Given the description of an element on the screen output the (x, y) to click on. 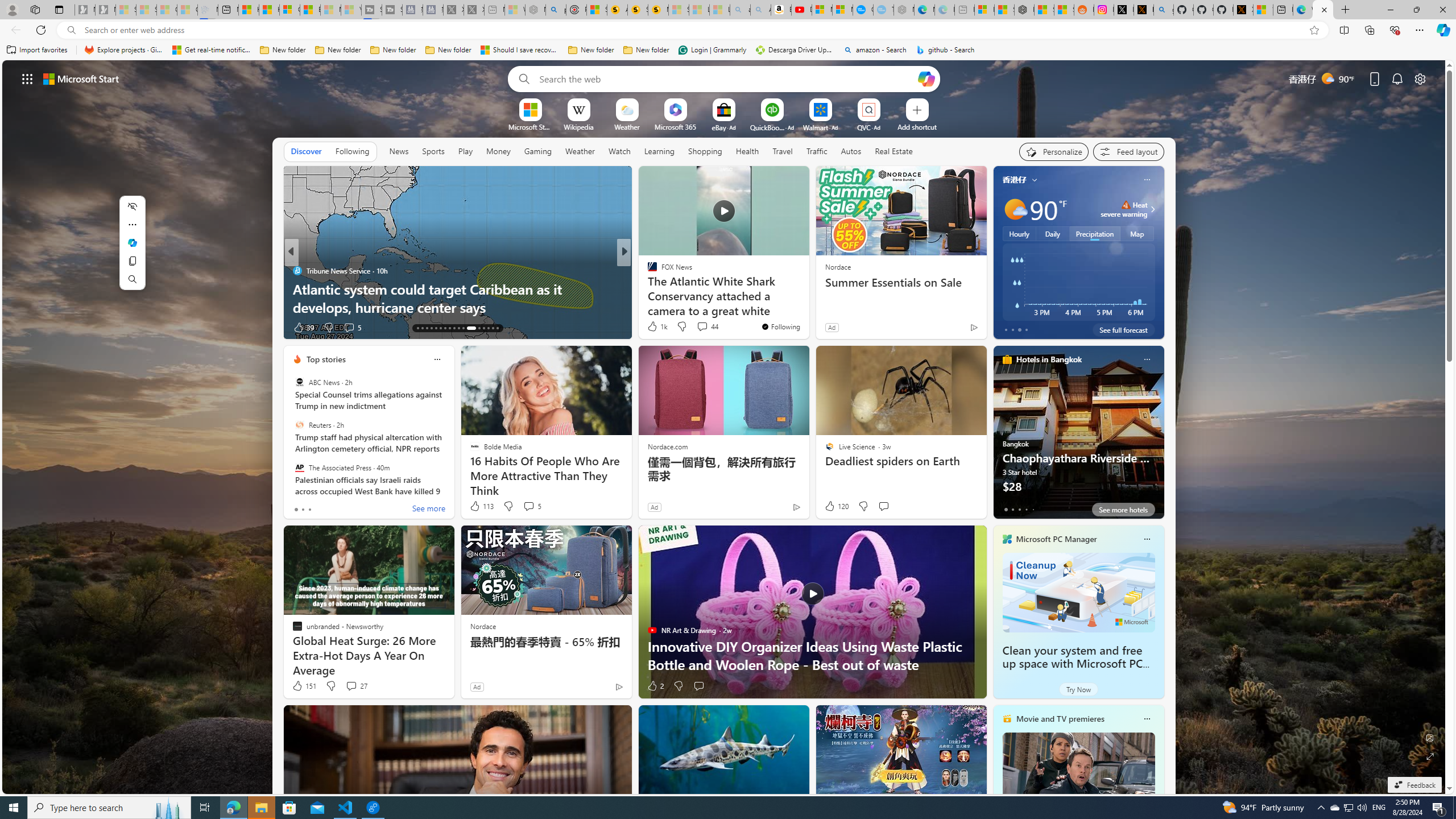
1k Like (656, 326)
21 Like (652, 327)
View comments 4 Comment (349, 327)
View comments 44 Comment (706, 326)
5 Like (651, 327)
AutomationID: tab-13 (417, 328)
